Given the description of an element on the screen output the (x, y) to click on. 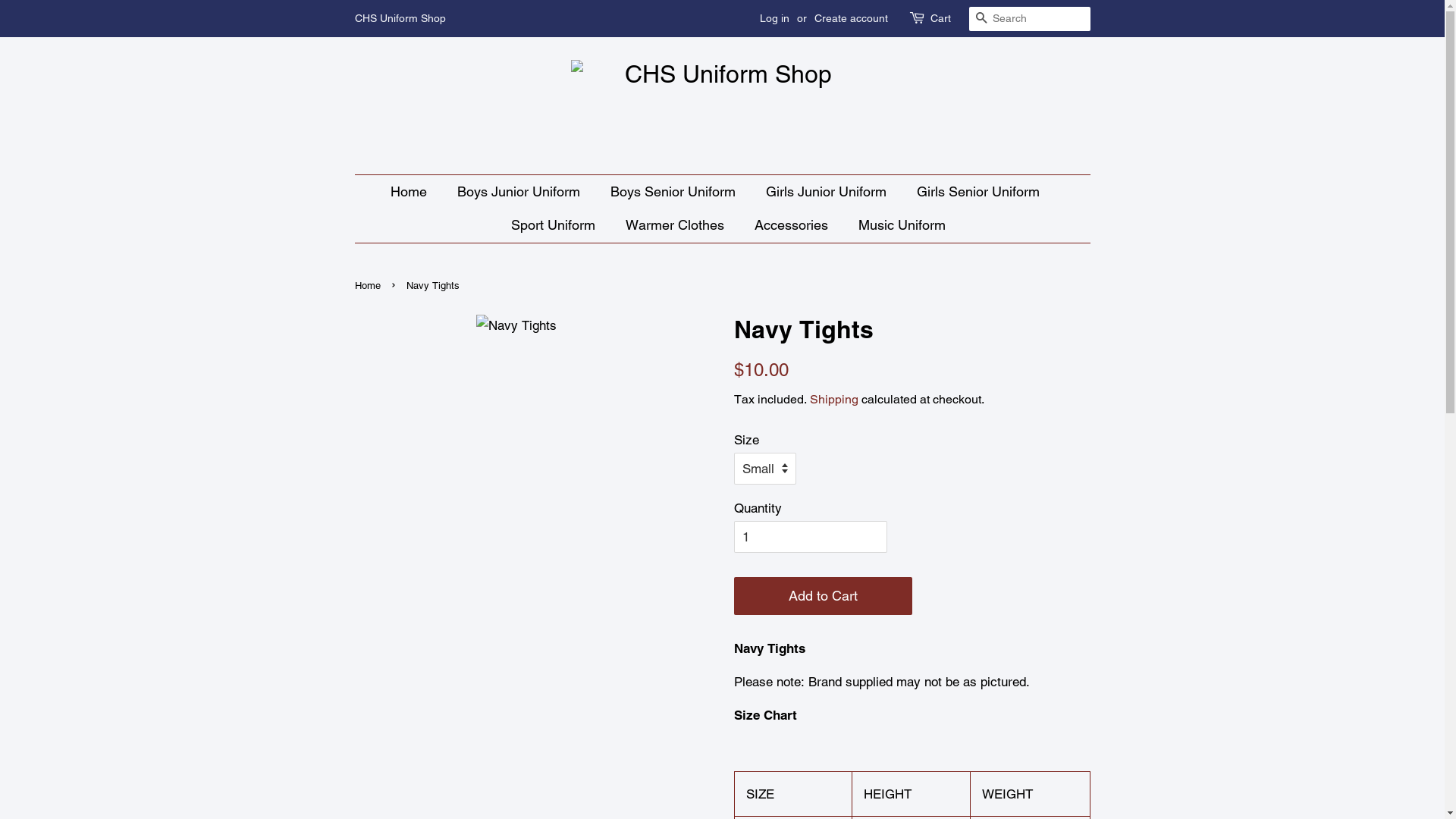
Log in Element type: text (774, 18)
Home Element type: text (369, 285)
Create account Element type: text (851, 18)
Shipping Element type: text (833, 399)
Accessories Element type: text (793, 225)
Warmer Clothes Element type: text (676, 225)
Search Element type: text (981, 18)
Home Element type: text (415, 192)
Girls Senior Uniform Element type: text (979, 192)
Add to Cart Element type: text (823, 596)
Sport Uniform Element type: text (553, 225)
Boys Junior Uniform Element type: text (520, 192)
Boys Senior Uniform Element type: text (674, 192)
Girls Junior Uniform Element type: text (826, 192)
Cart Element type: text (939, 18)
Music Uniform Element type: text (895, 225)
